Given the description of an element on the screen output the (x, y) to click on. 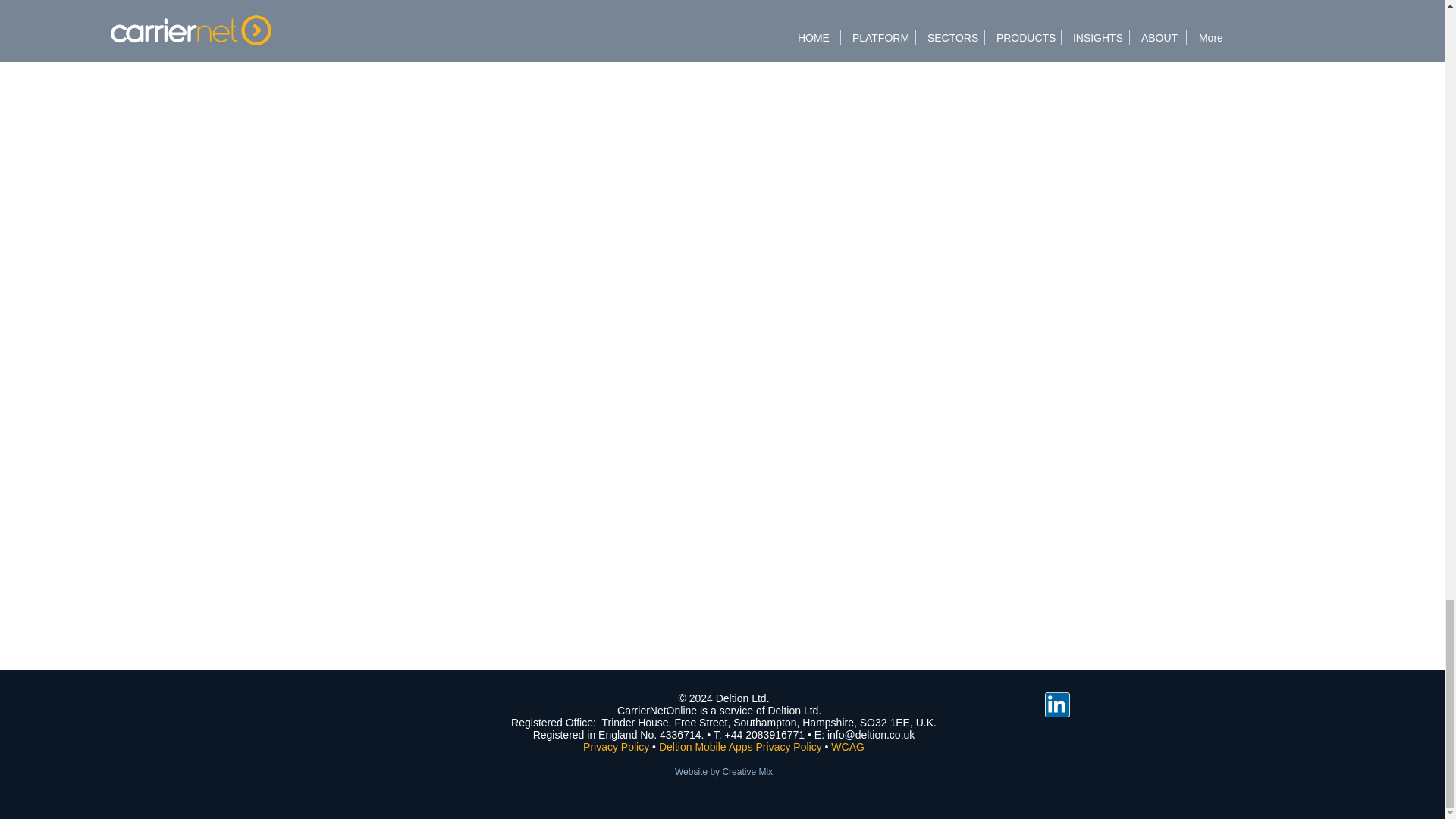
Privacy Policy (616, 746)
WCAG (847, 746)
Website by Creative Mix (724, 770)
Deltion Mobile Apps Privacy Policy  (742, 746)
